Given the description of an element on the screen output the (x, y) to click on. 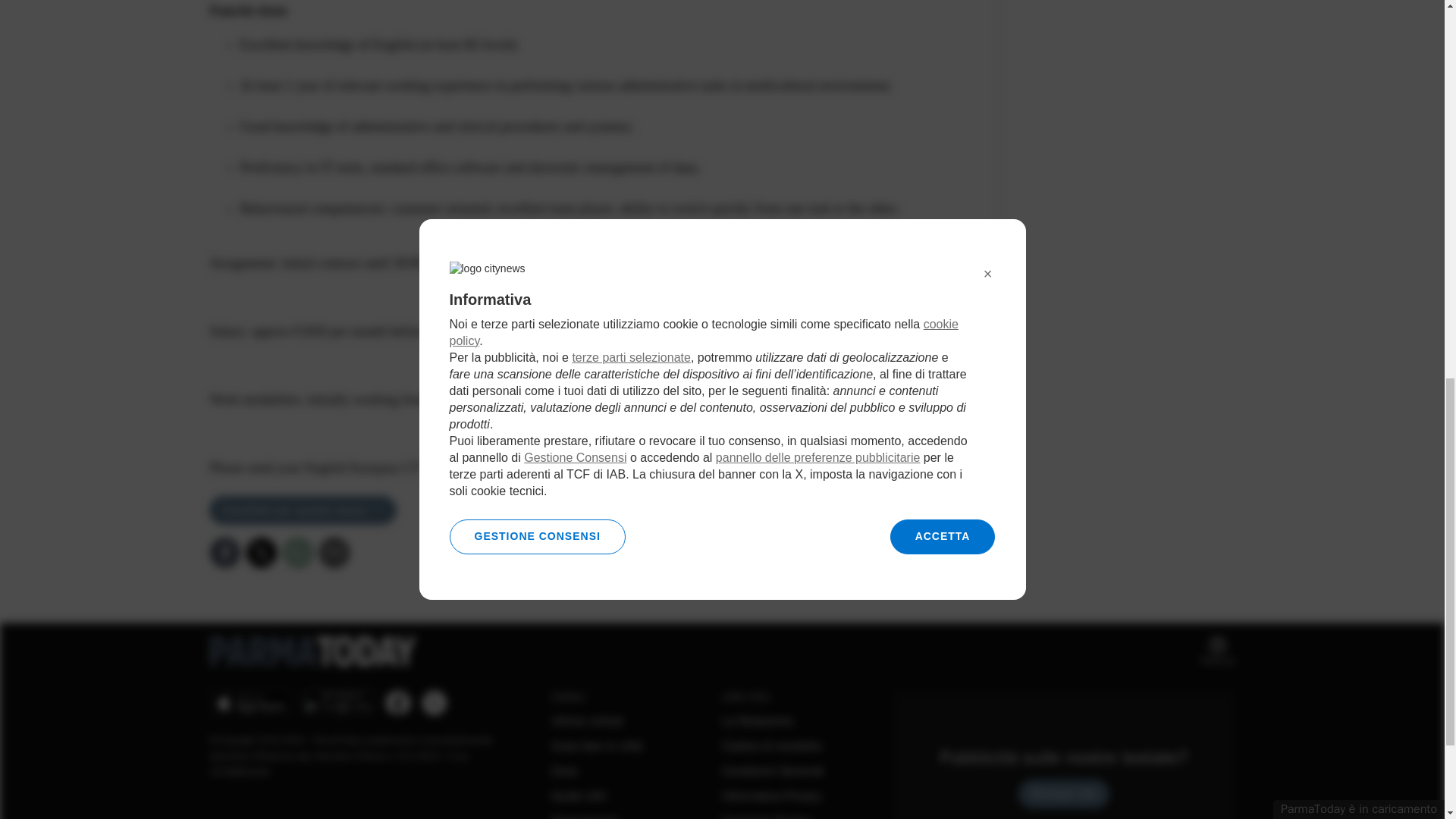
Zone (564, 770)
Codice di condotta (771, 745)
WhatsApp (296, 552)
Condizioni Generali (773, 770)
Email (333, 552)
Torna su (1216, 651)
Segnalazioni (584, 816)
Twitter (260, 552)
Facebook (223, 552)
La Redazione (757, 720)
